Given the description of an element on the screen output the (x, y) to click on. 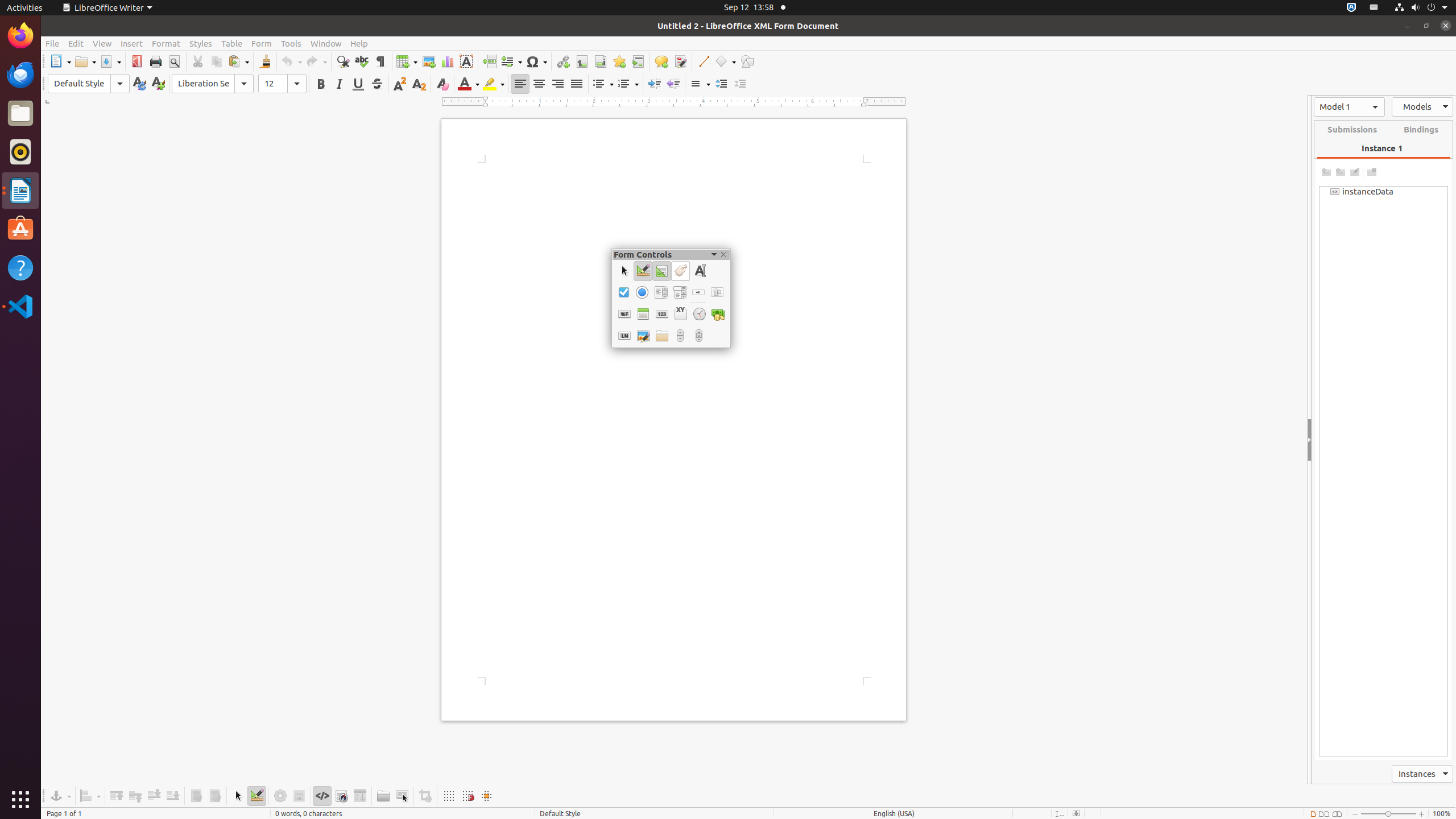
Pattern Field Element type: toggle-button (623, 335)
Image Control Element type: toggle-button (642, 335)
Time Field Element type: toggle-button (698, 314)
Combo Box Element type: push-button (678, 292)
Files Element type: push-button (20, 113)
